Given the description of an element on the screen output the (x, y) to click on. 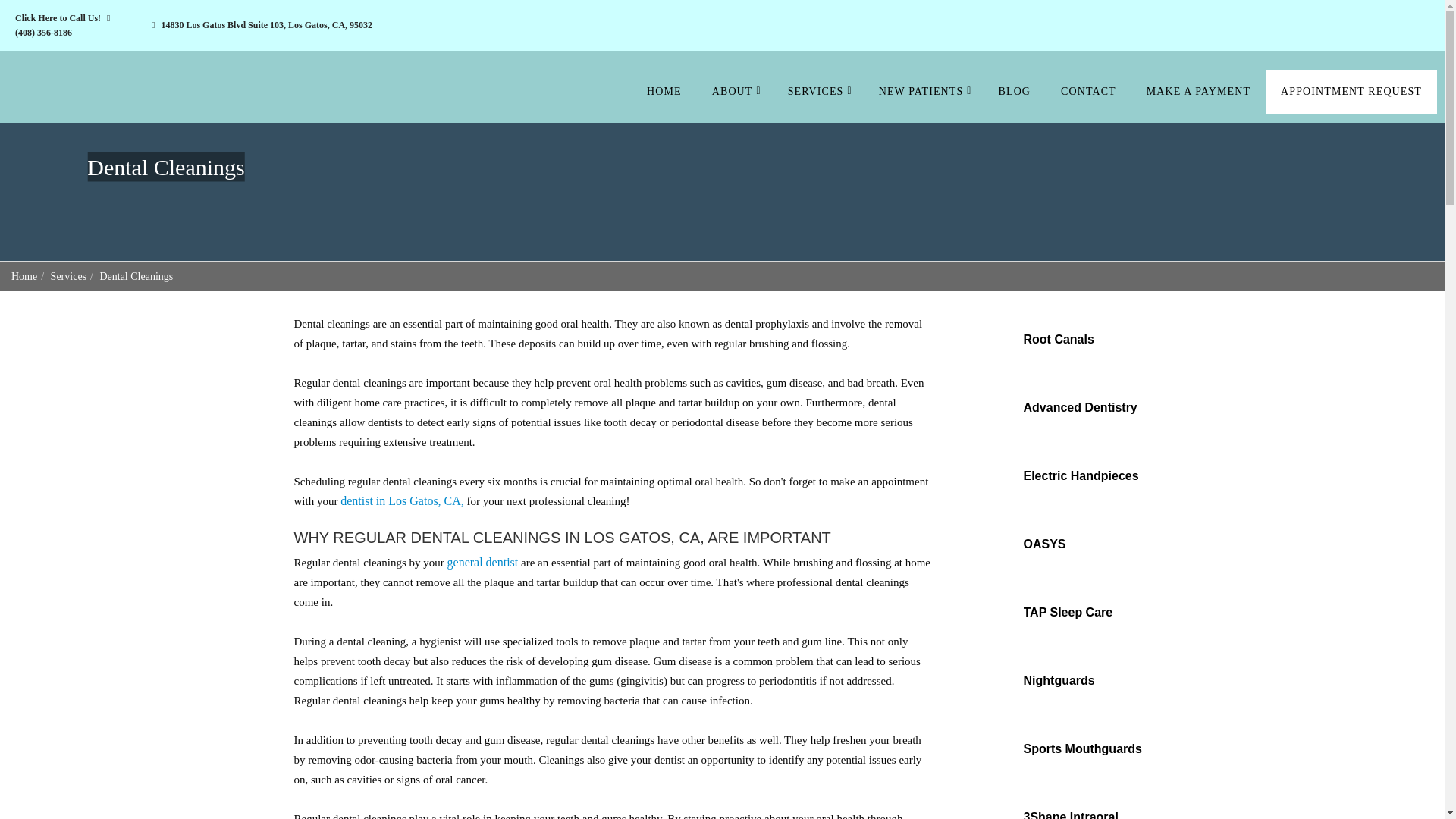
14830 Los Gatos Blvd Suite 103, Los Gatos, CA, 95032 (258, 24)
SERVICES (818, 91)
HOME (664, 91)
ABOUT (735, 91)
NEW PATIENTS (923, 91)
